Given the description of an element on the screen output the (x, y) to click on. 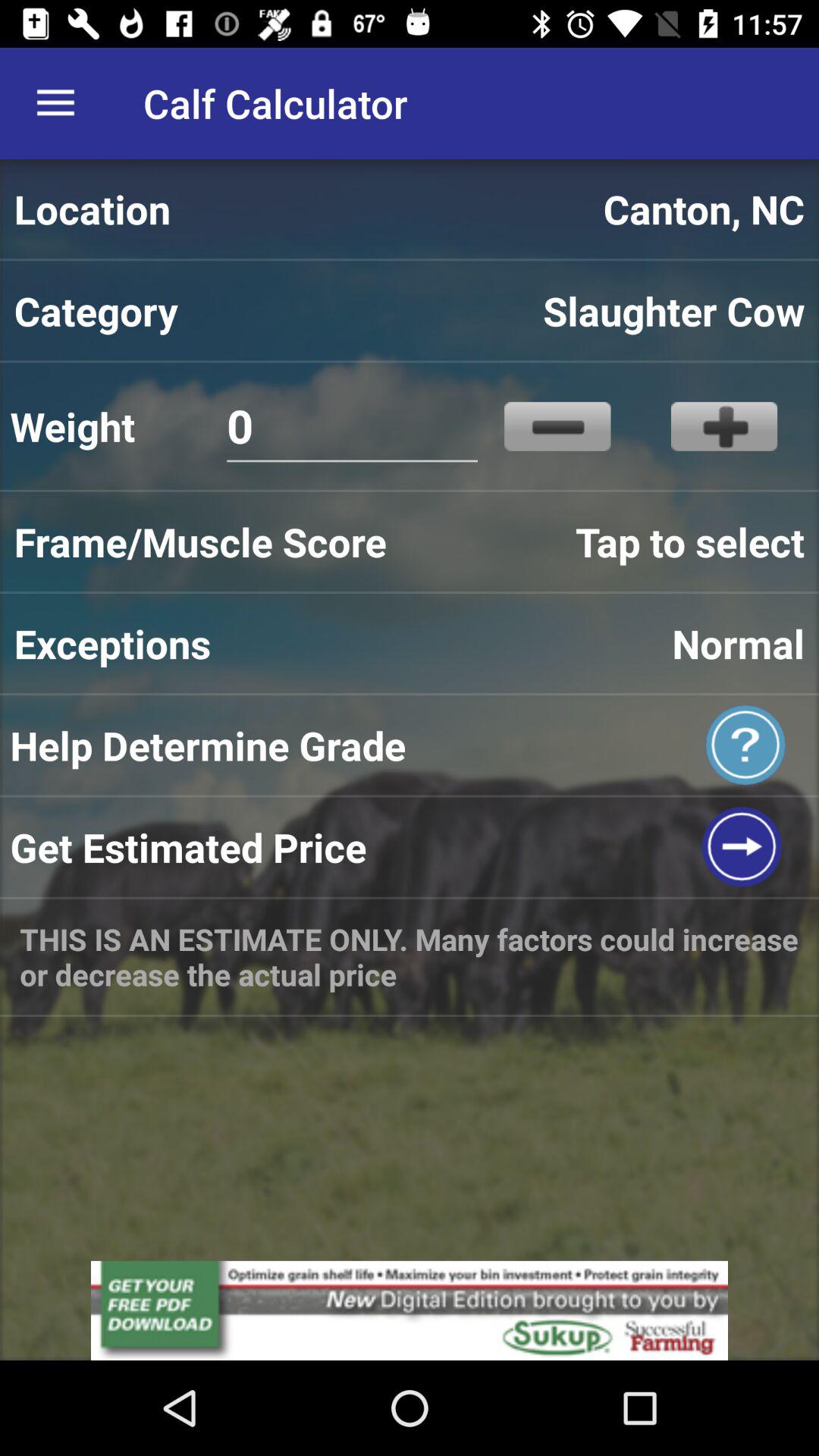
decrease value (557, 425)
